Given the description of an element on the screen output the (x, y) to click on. 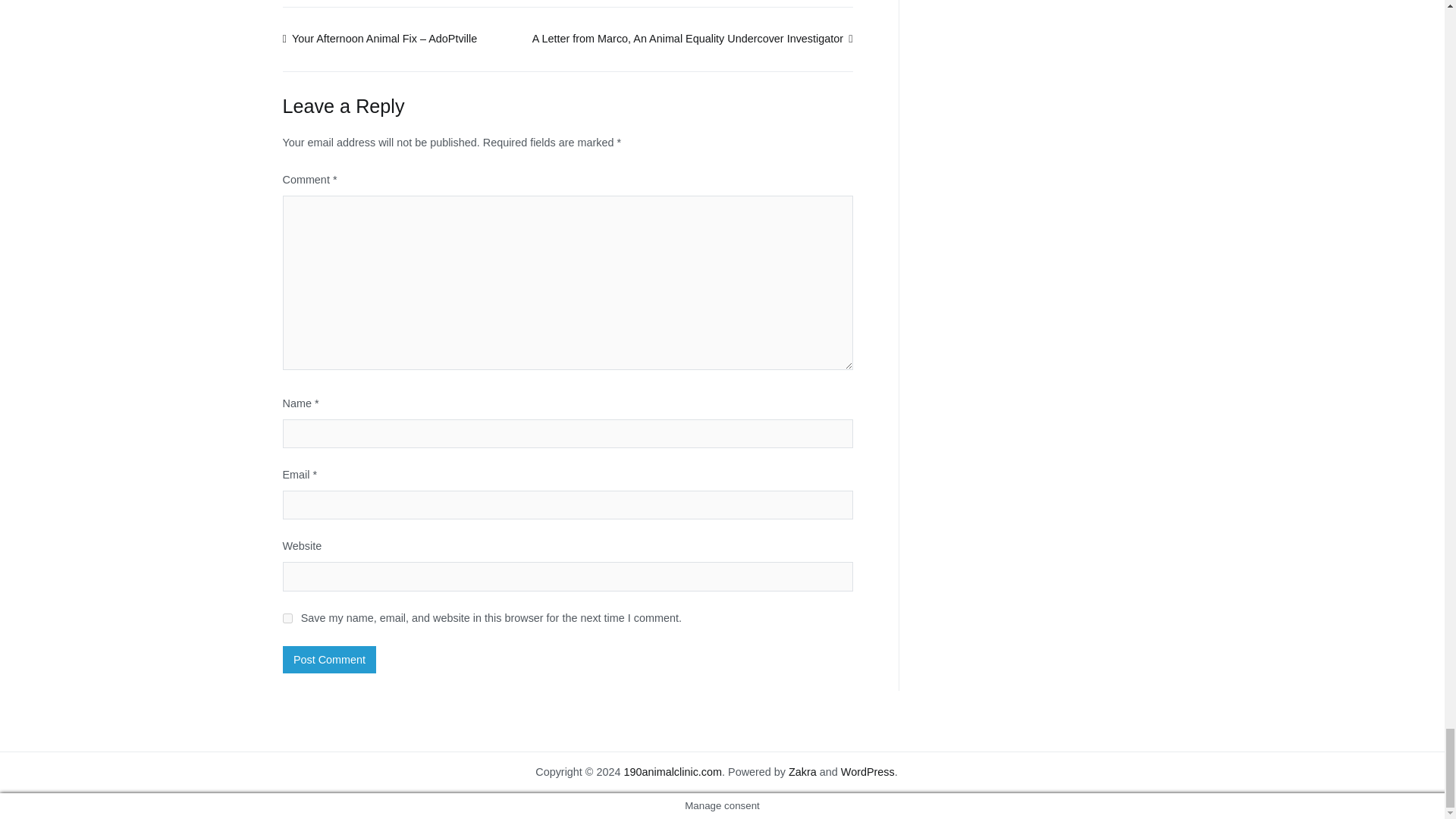
190animalclinic.com (672, 771)
Post Comment (328, 659)
WordPress (868, 771)
yes (287, 618)
Post Comment (328, 659)
Zakra (802, 771)
